Given the description of an element on the screen output the (x, y) to click on. 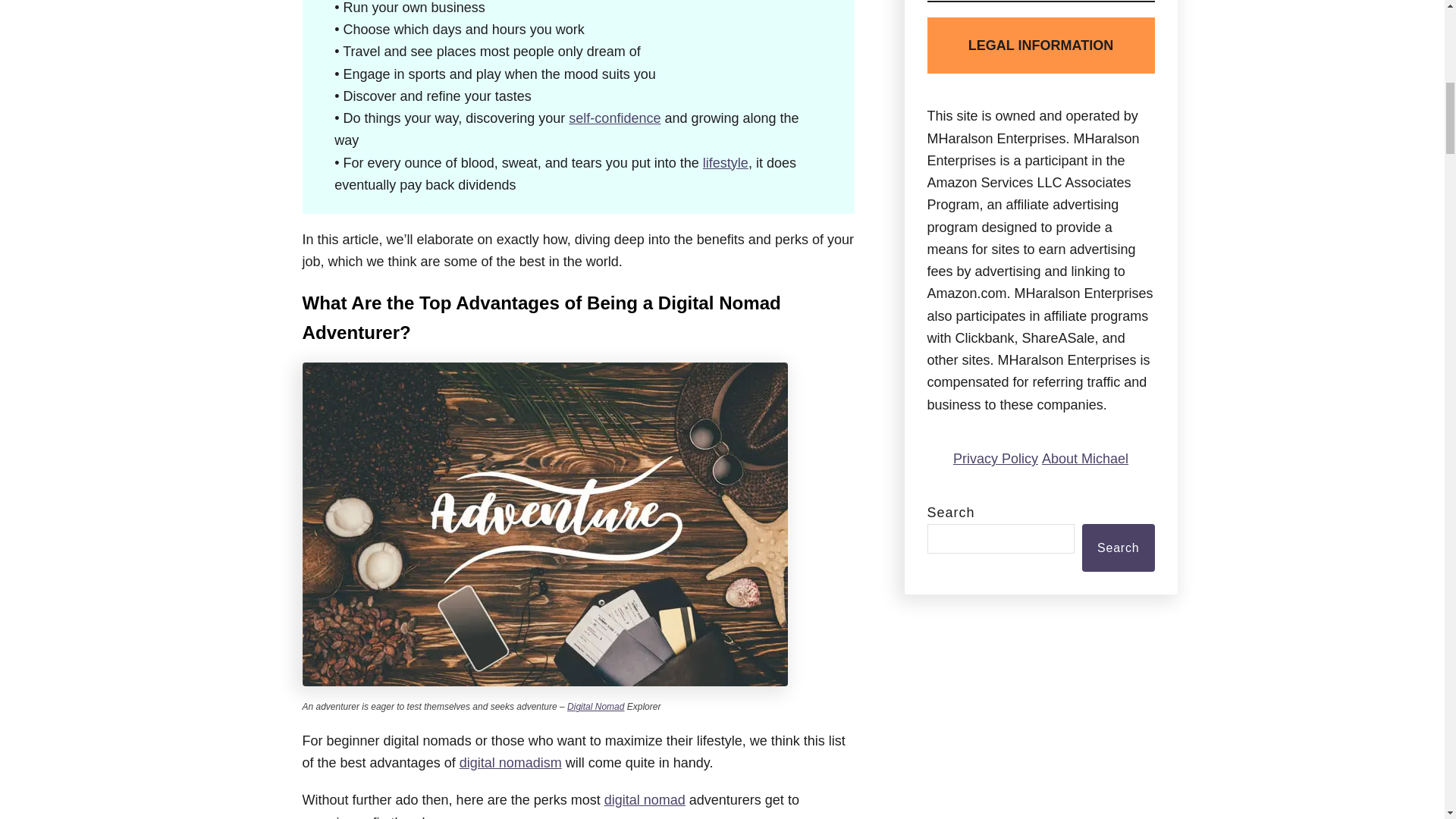
digital nomadism (511, 762)
Digital Nomad (595, 706)
digital nomad (644, 799)
lifestyle (725, 161)
self-confidence (615, 118)
Privacy Policy (995, 458)
Digital Nomad (595, 706)
digital nomadism (511, 762)
digital nomad (644, 799)
lifestyle (725, 161)
